Given the description of an element on the screen output the (x, y) to click on. 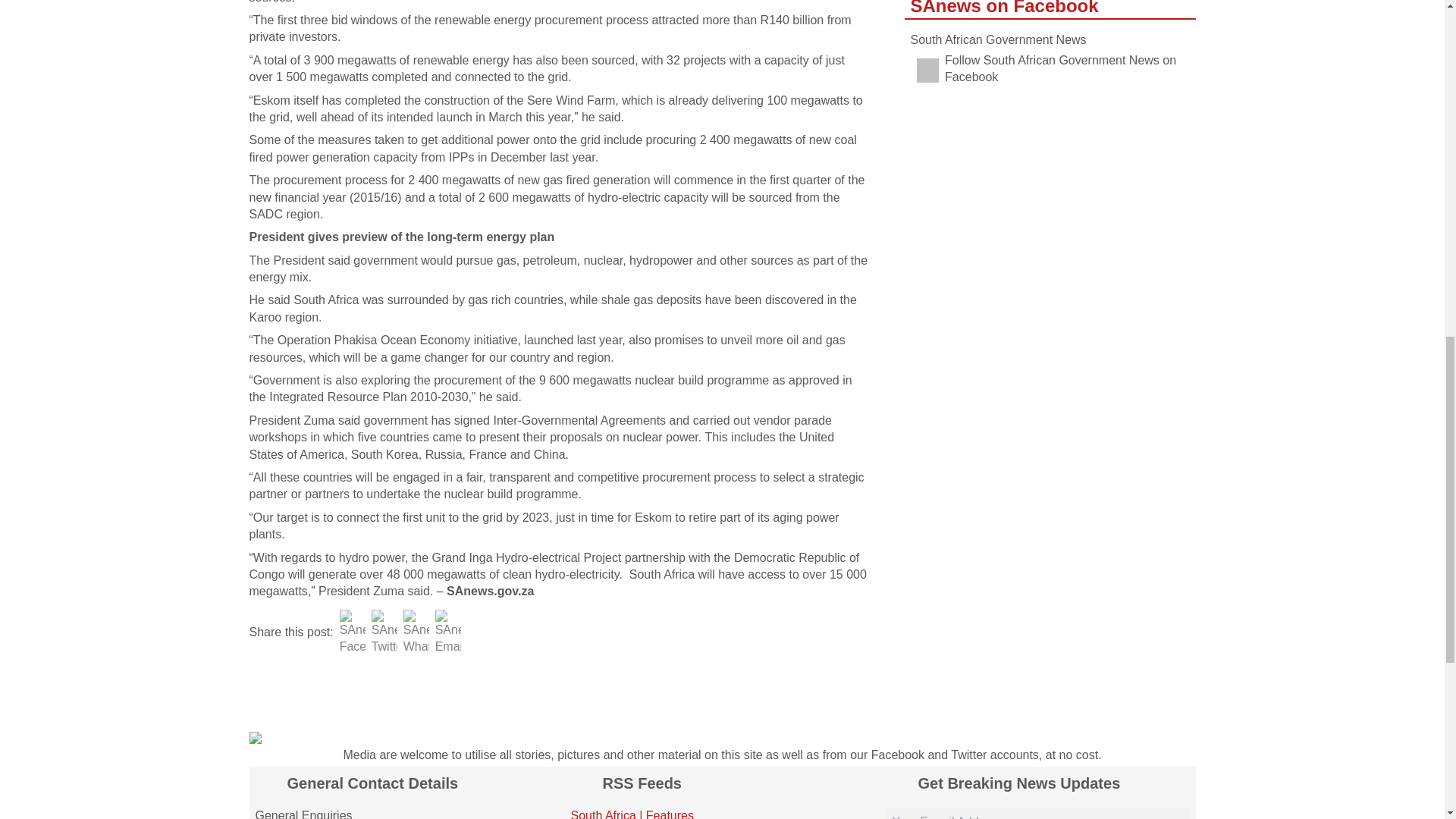
South African Government News (998, 39)
South Africa (602, 814)
Follow South African Government News on Facebook (1049, 69)
Features (670, 814)
